Given the description of an element on the screen output the (x, y) to click on. 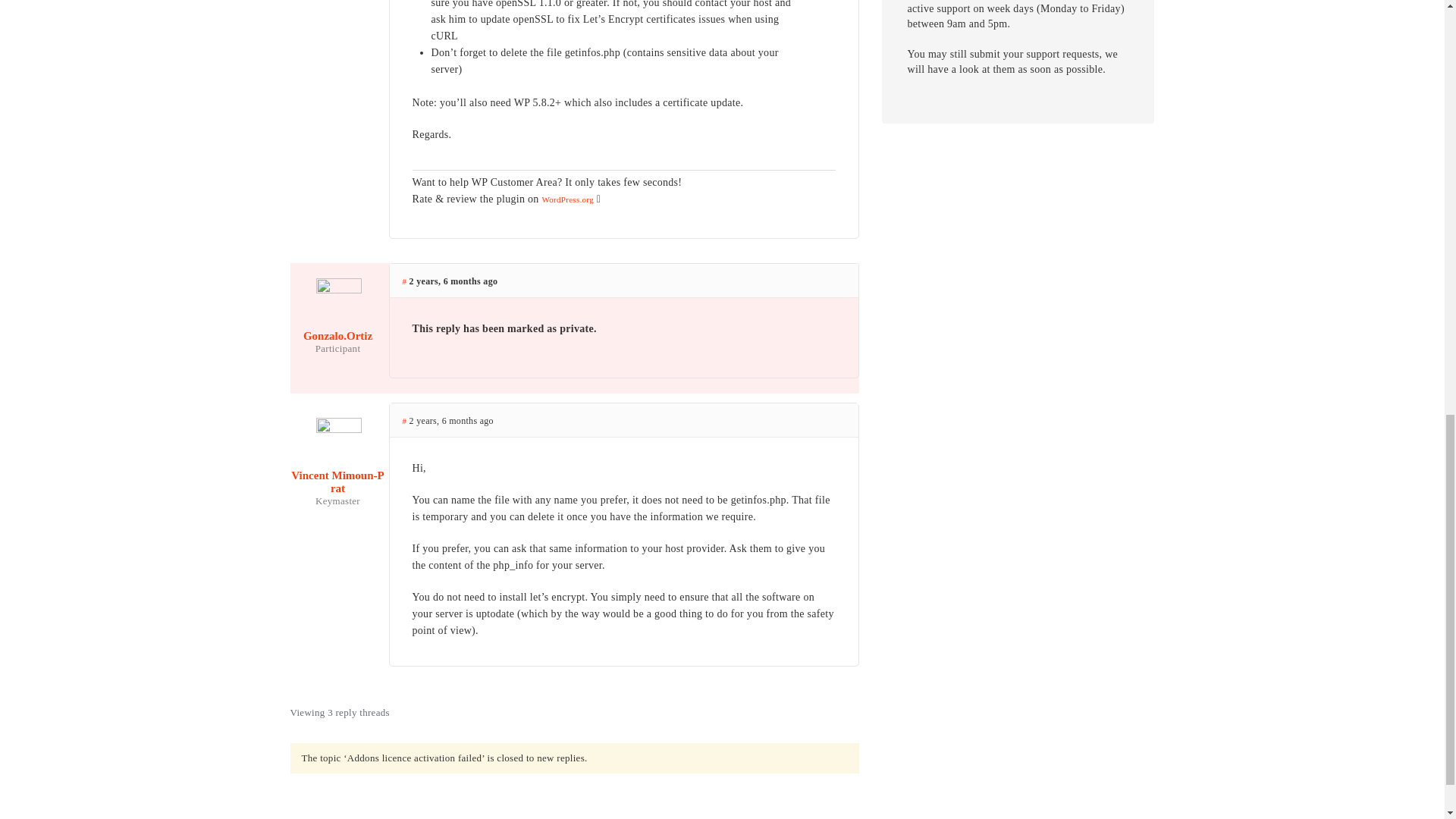
WordPress.org (567, 198)
Vincent Mimoun-Prat (337, 470)
View Vincent Mimoun-Prat's profile (337, 470)
View gonzalo.ortiz's profile (337, 323)
Gonzalo.Ortiz (337, 323)
